Given the description of an element on the screen output the (x, y) to click on. 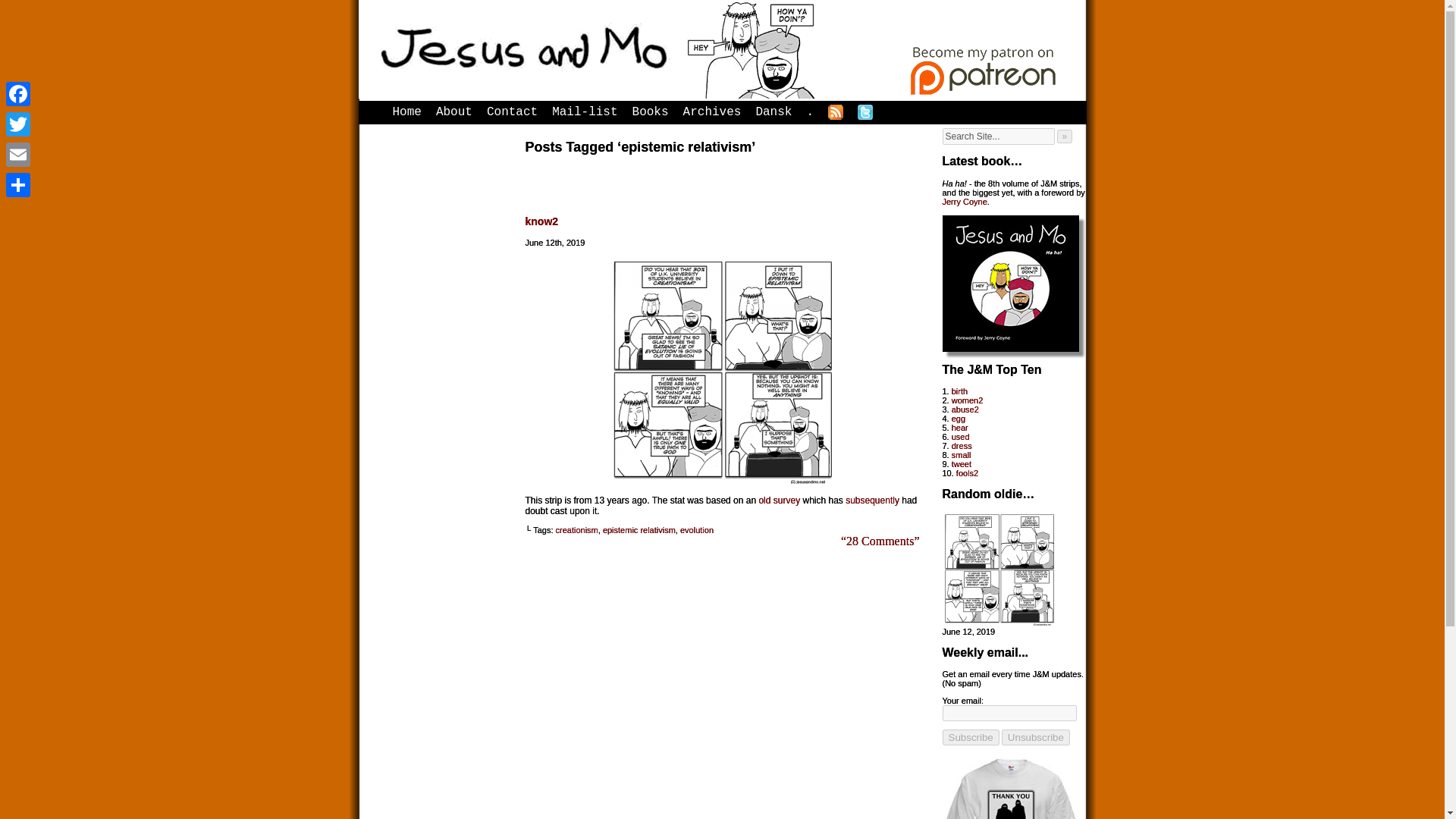
Books (650, 109)
Archives (712, 109)
Subscribe (970, 737)
used (960, 436)
Subscribe (970, 737)
Permanent Link to know2 (998, 622)
Mail-list (584, 109)
tweet (961, 463)
Search Site... (998, 135)
women2 (968, 399)
Unsubscribe (1035, 737)
subsequently (872, 500)
abuse2 (965, 409)
Dansk (773, 109)
epistemic relativism (638, 529)
